Given the description of an element on the screen output the (x, y) to click on. 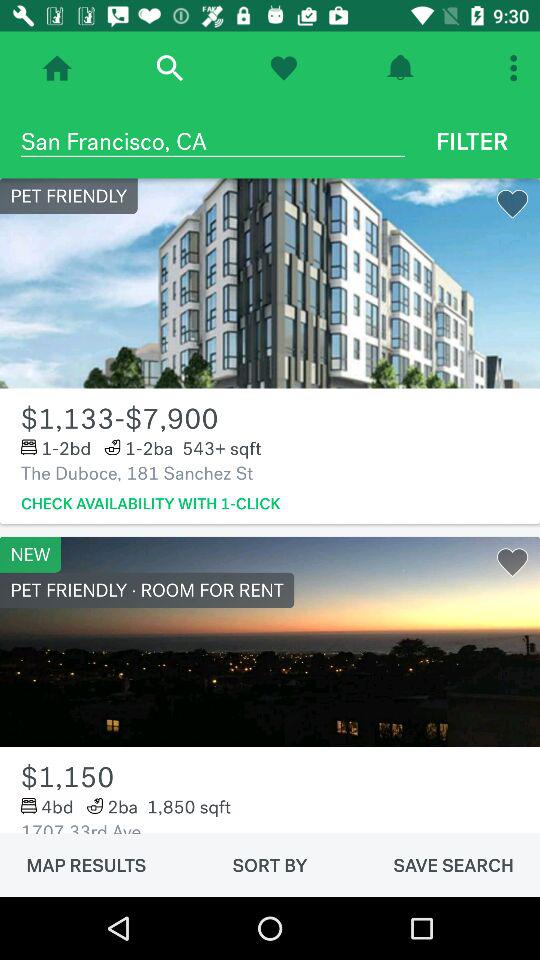
choose the item below the 1707 33rd ave item (85, 865)
